Given the description of an element on the screen output the (x, y) to click on. 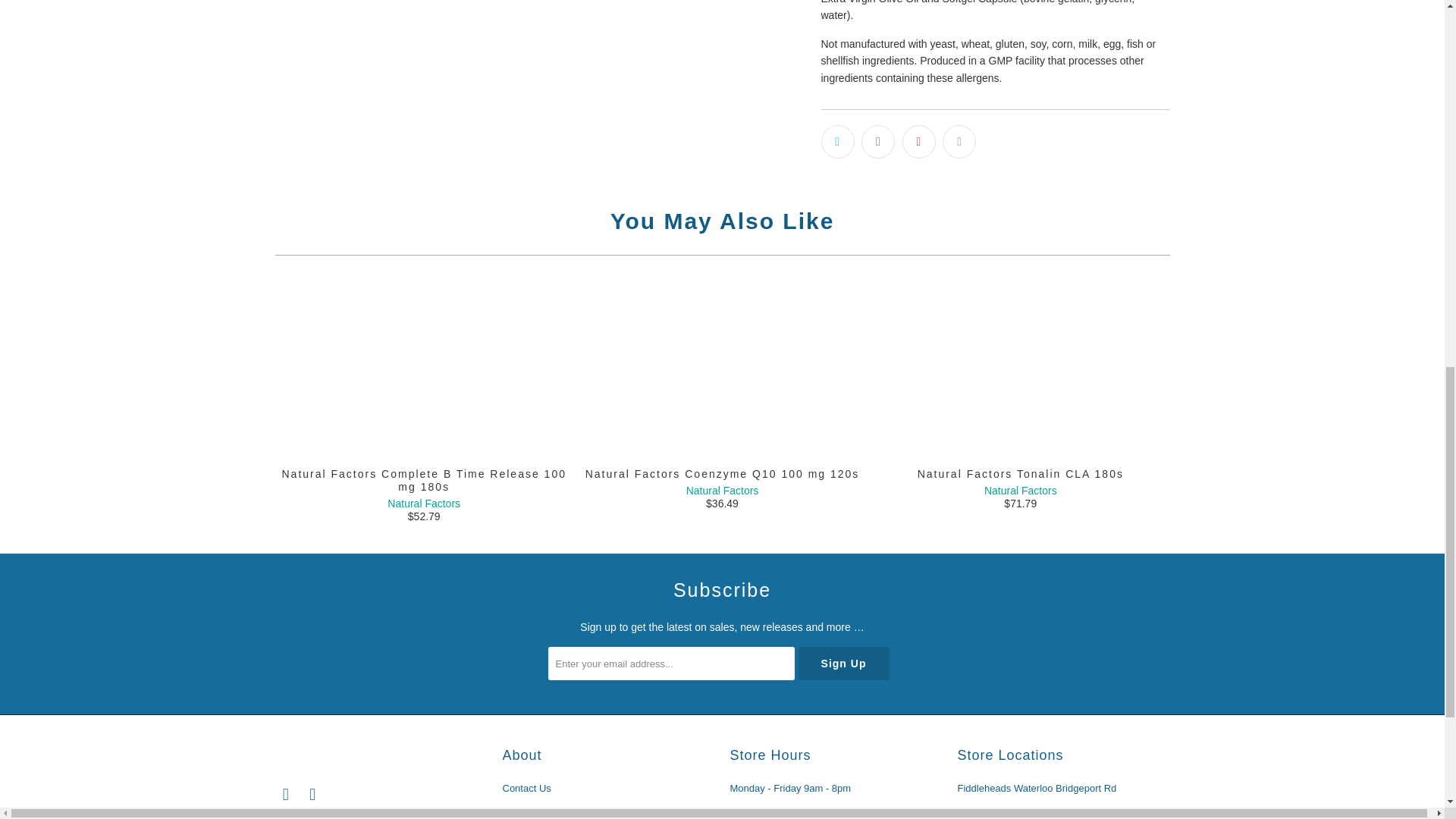
Share this on Facebook (878, 141)
Sign Up (842, 663)
Fiddleheads Health and Nutrition on Instagram (312, 794)
Share this on Pinterest (919, 141)
Fiddleheads Health and Nutrition on Facebook (286, 794)
Email this to a friend (958, 141)
Share this on Twitter (837, 141)
